Given the description of an element on the screen output the (x, y) to click on. 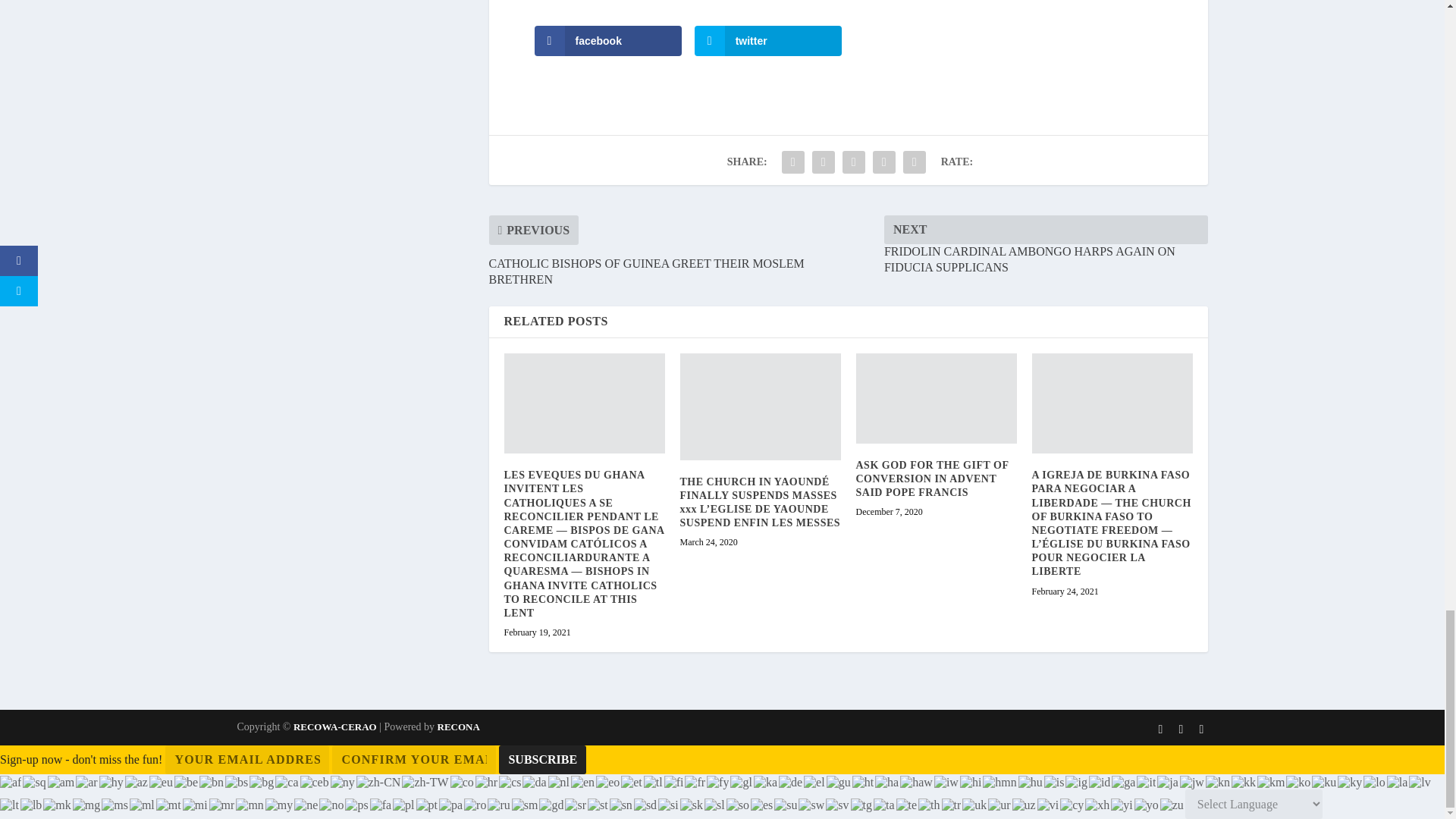
twitter (768, 40)
facebook (607, 40)
Subscribe (542, 759)
